Given the description of an element on the screen output the (x, y) to click on. 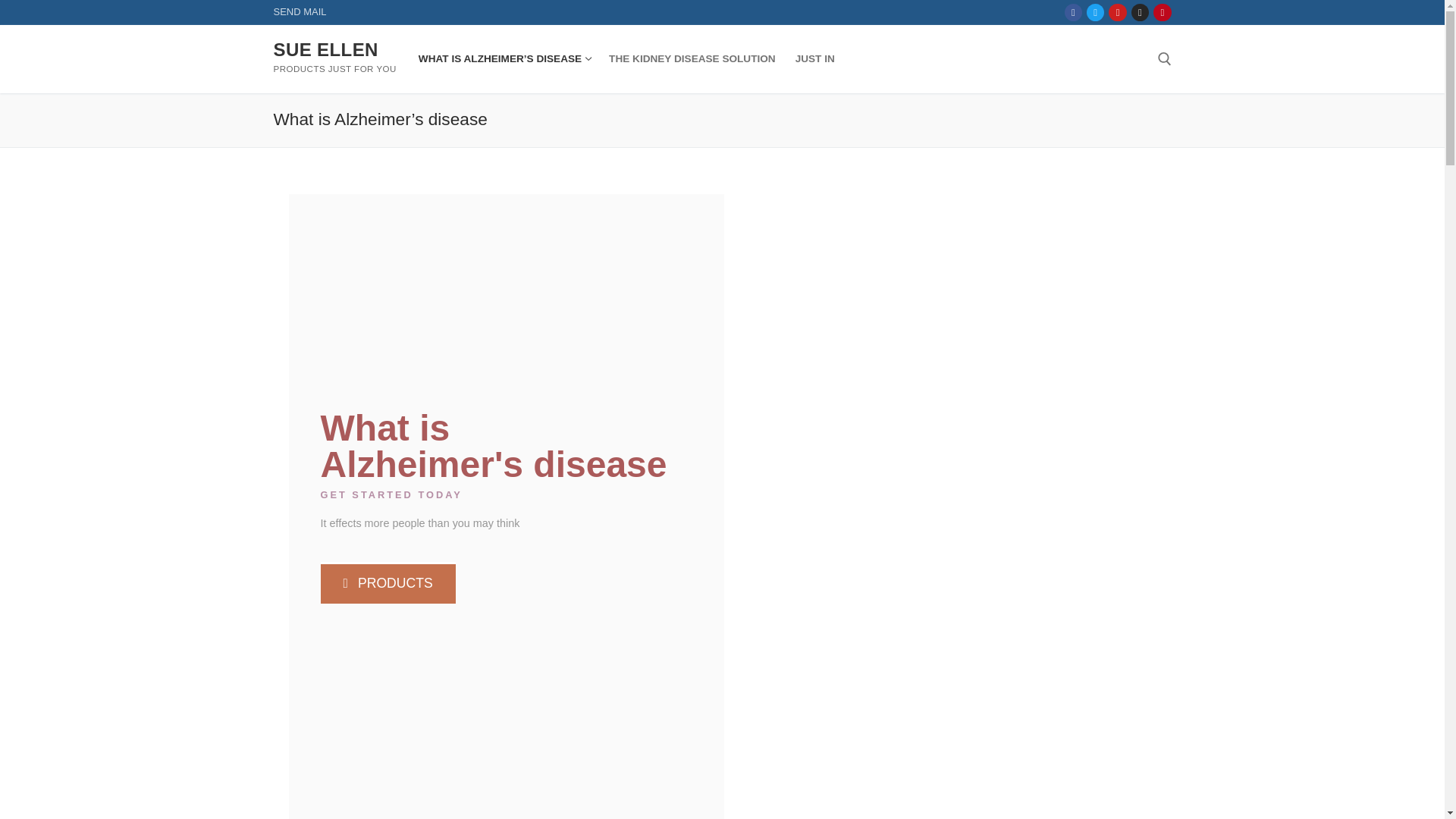
Facebook (1073, 12)
Pinterest (1162, 12)
Youtube (1117, 12)
PRODUCTS (387, 582)
THE KIDNEY DISEASE SOLUTION (692, 59)
Instagram (1139, 12)
SUE ELLEN (325, 48)
Twitter (1095, 12)
JUST IN (815, 59)
SEND MAIL (299, 11)
